Given the description of an element on the screen output the (x, y) to click on. 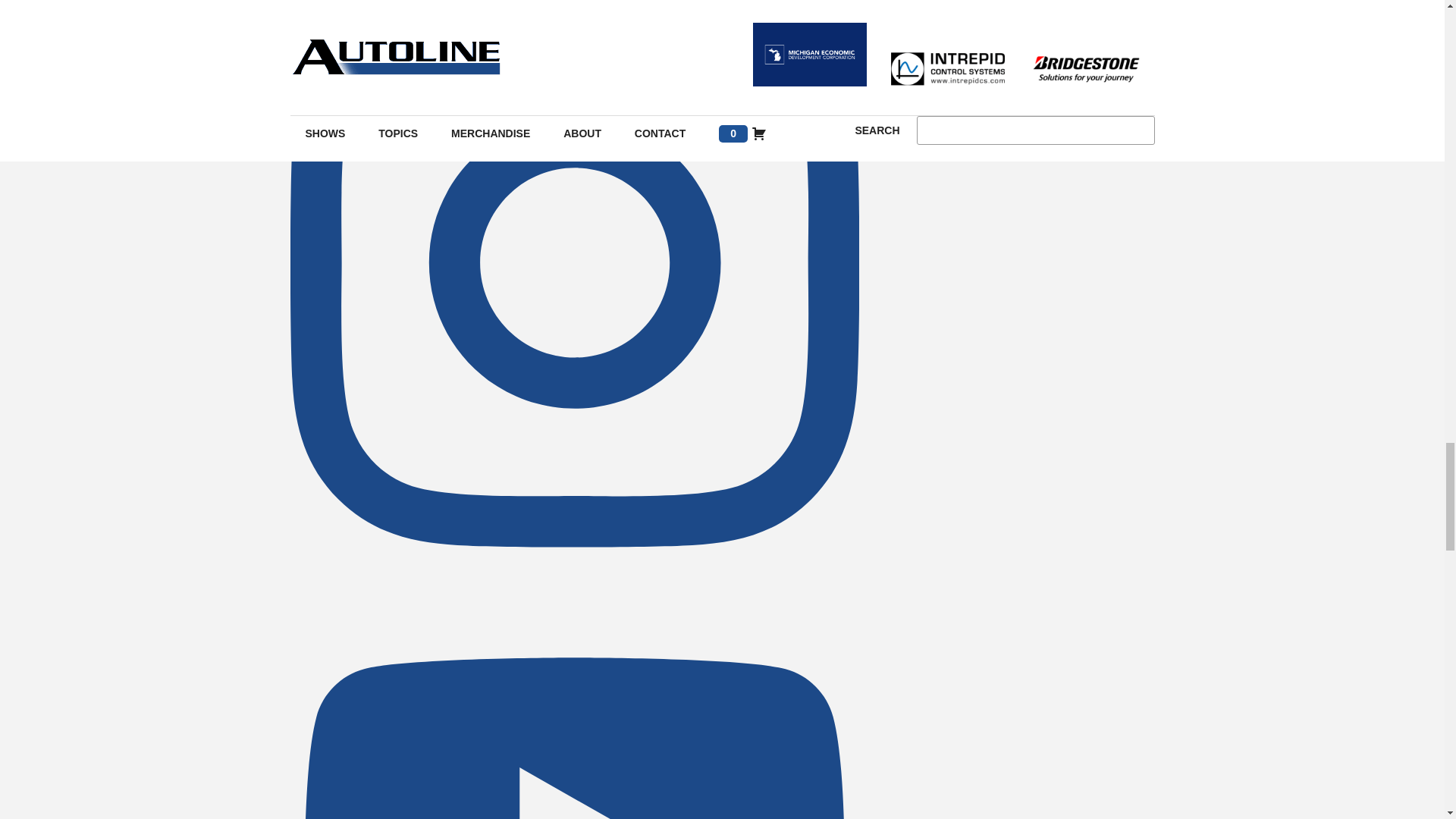
Instagram (574, 584)
